Given the description of an element on the screen output the (x, y) to click on. 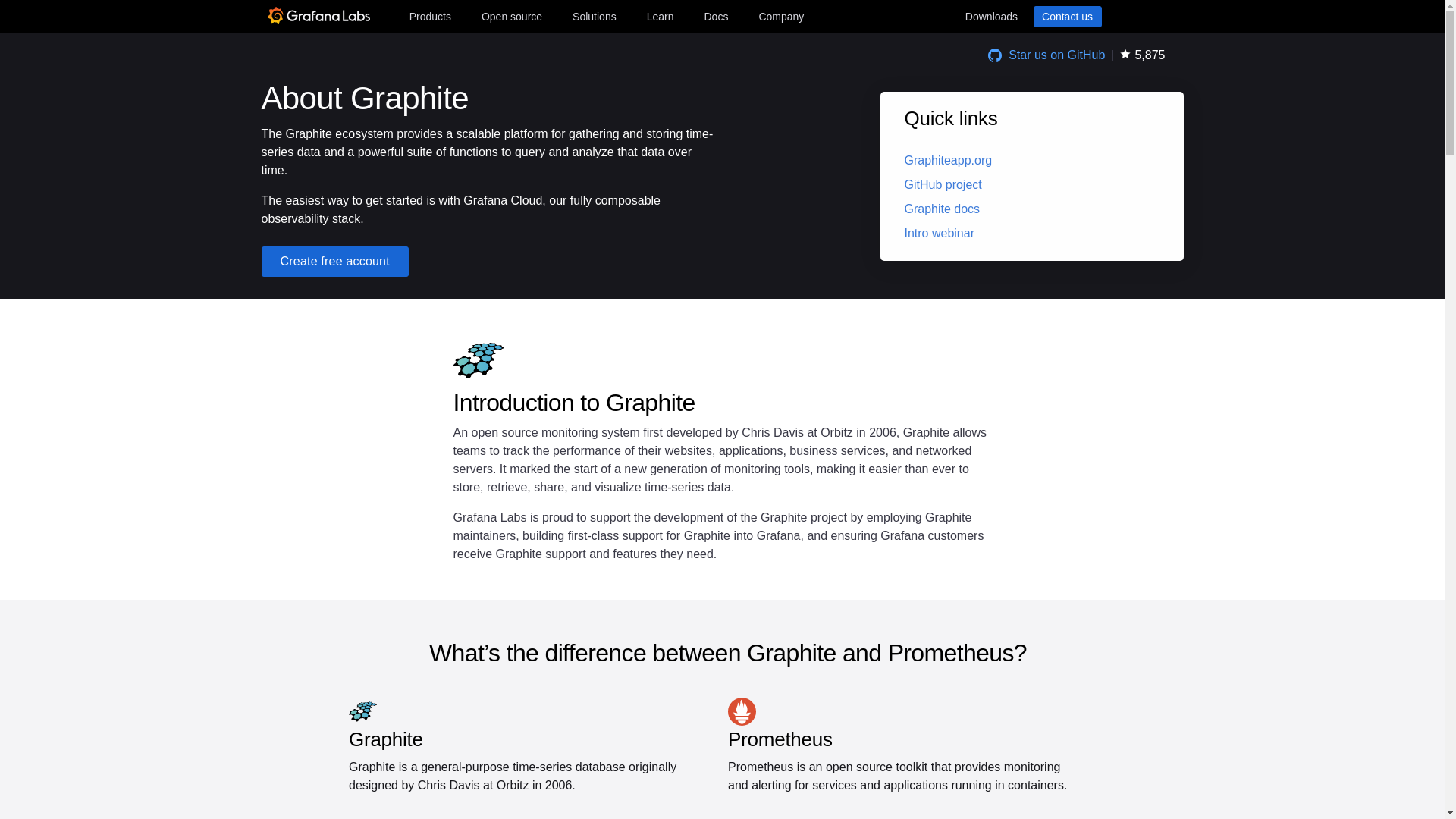
Products (429, 16)
Docs (715, 16)
Open source (512, 16)
Company (780, 16)
Contact us (1066, 16)
Learn (660, 16)
Solutions (594, 16)
Downloads (990, 16)
